Given the description of an element on the screen output the (x, y) to click on. 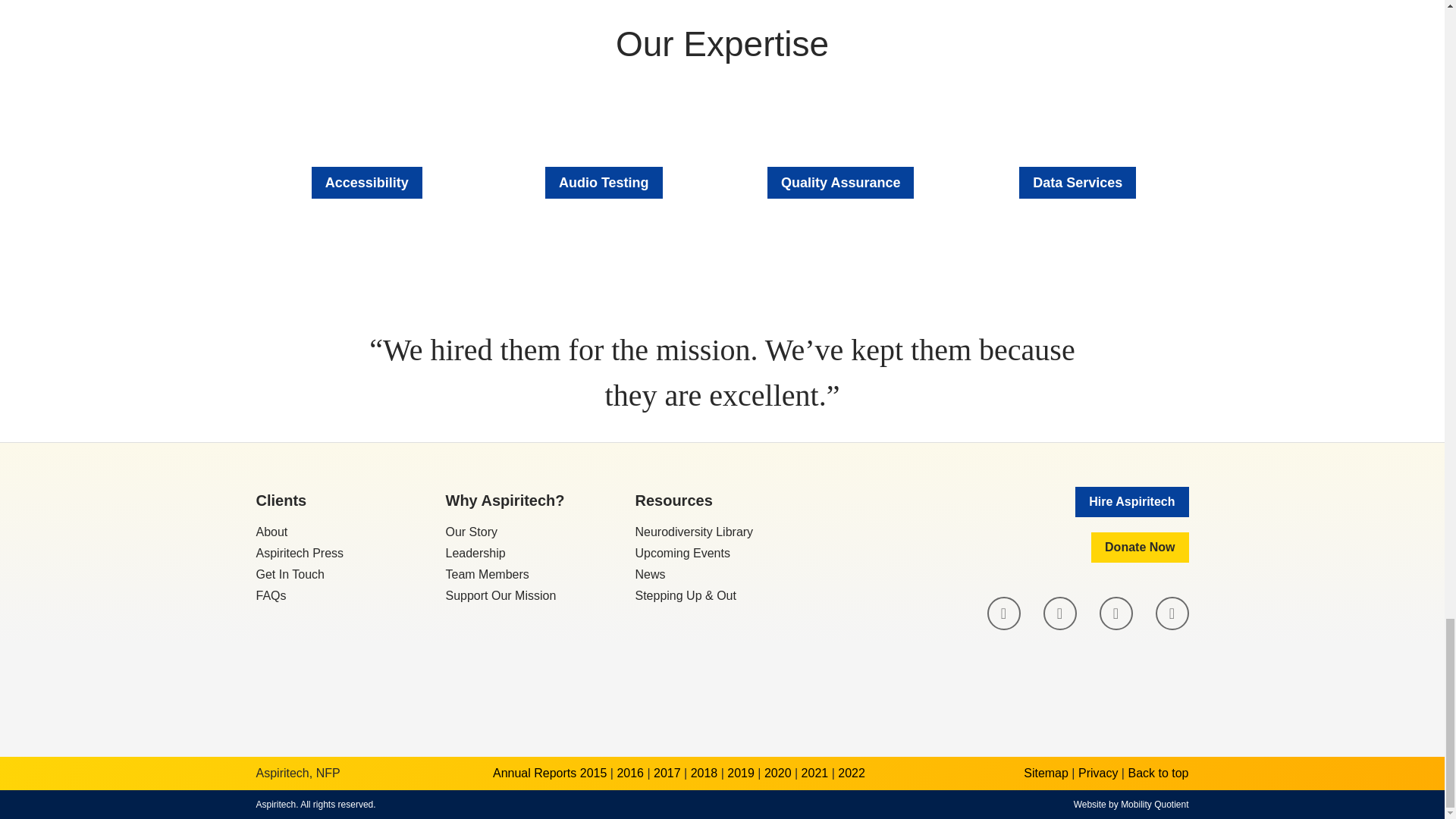
ISTQB-logo (1011, 680)
gsa-logo (1158, 680)
neurowrx-logo (864, 680)
